Given the description of an element on the screen output the (x, y) to click on. 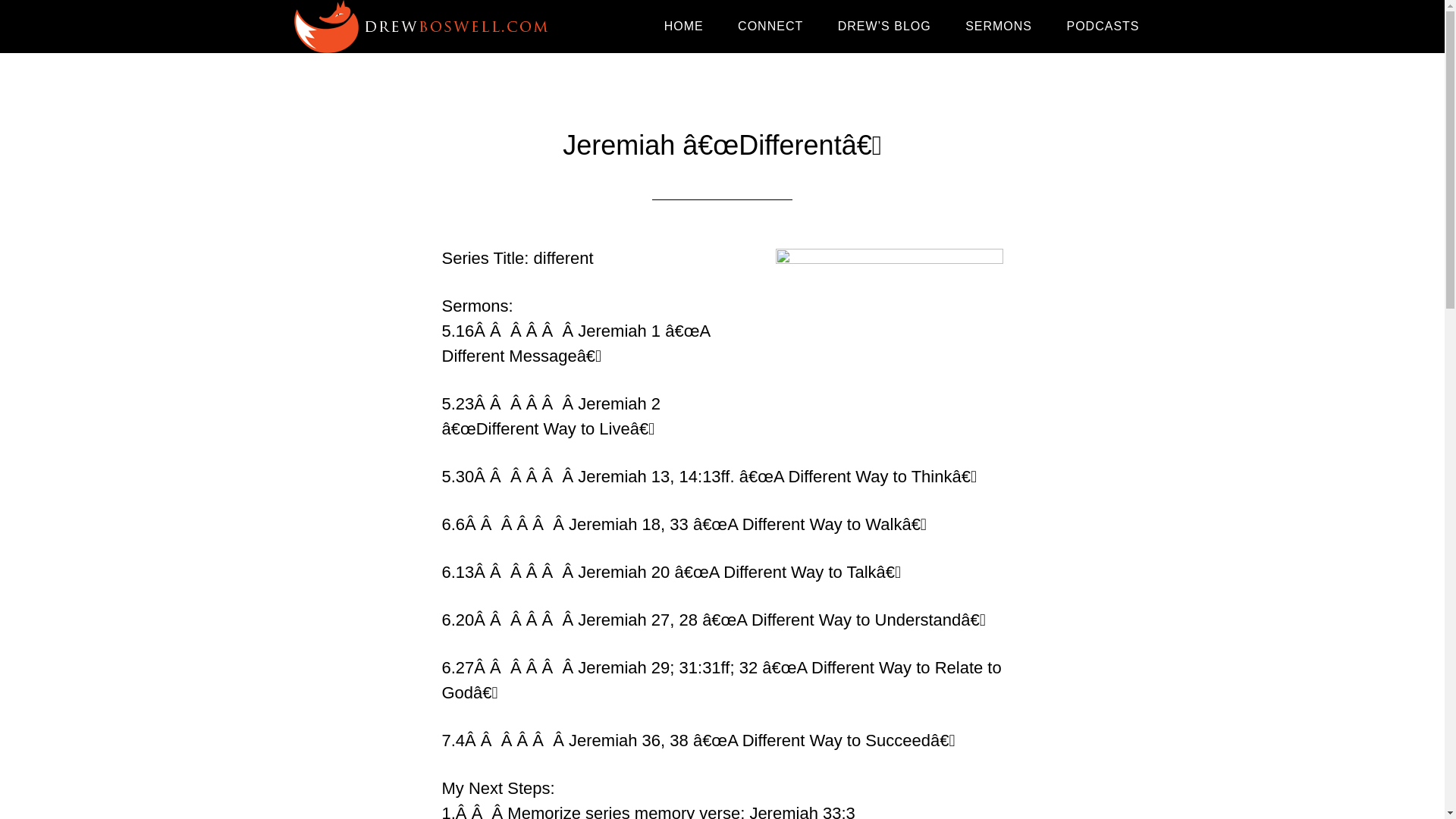
HOME (684, 26)
4x6.eps (888, 321)
PODCASTS (1102, 26)
SERMONS (998, 26)
DREW BOSWELL (425, 26)
CONNECT (770, 26)
